Given the description of an element on the screen output the (x, y) to click on. 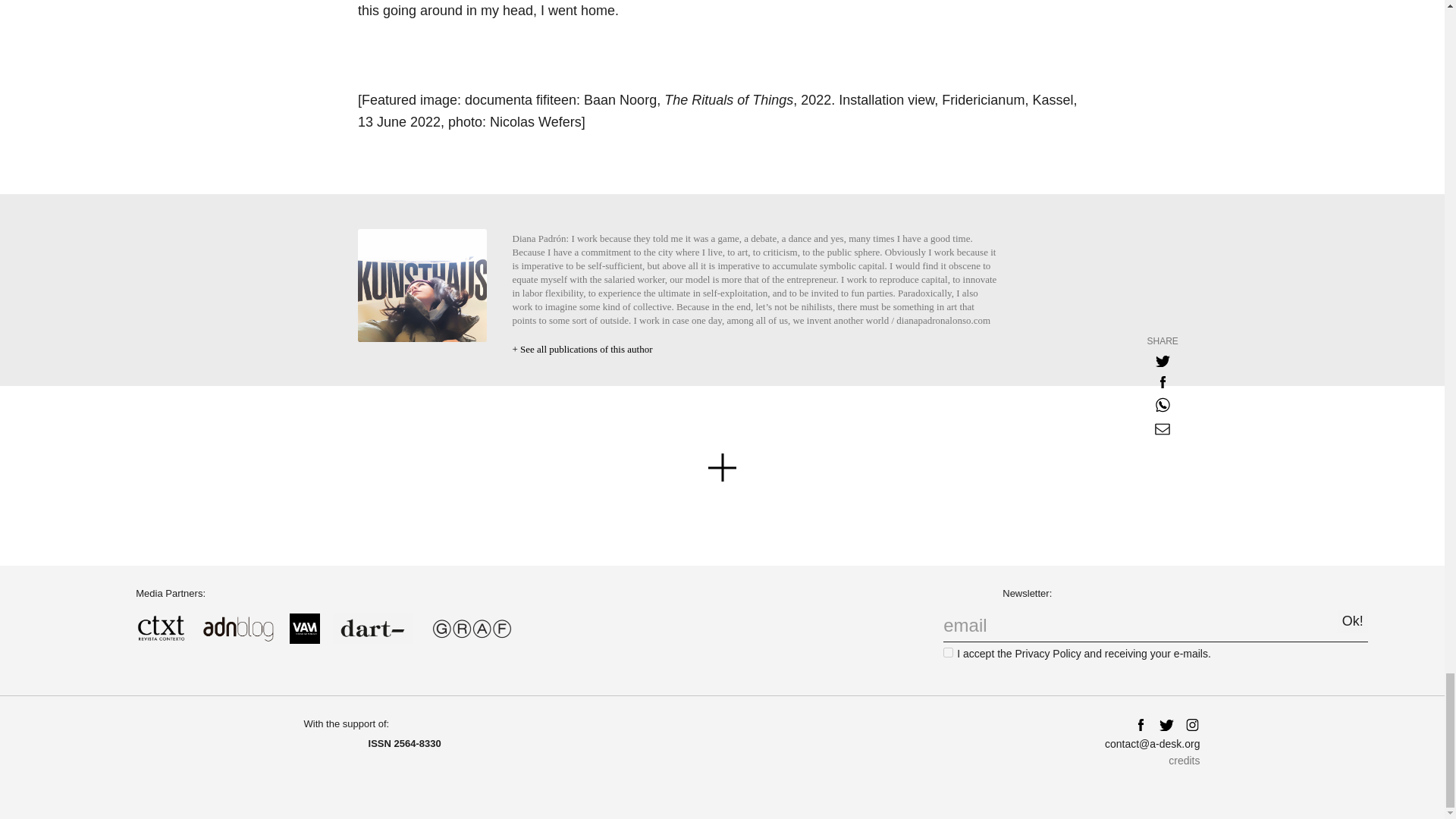
Ok! (1353, 621)
on (948, 652)
